Given the description of an element on the screen output the (x, y) to click on. 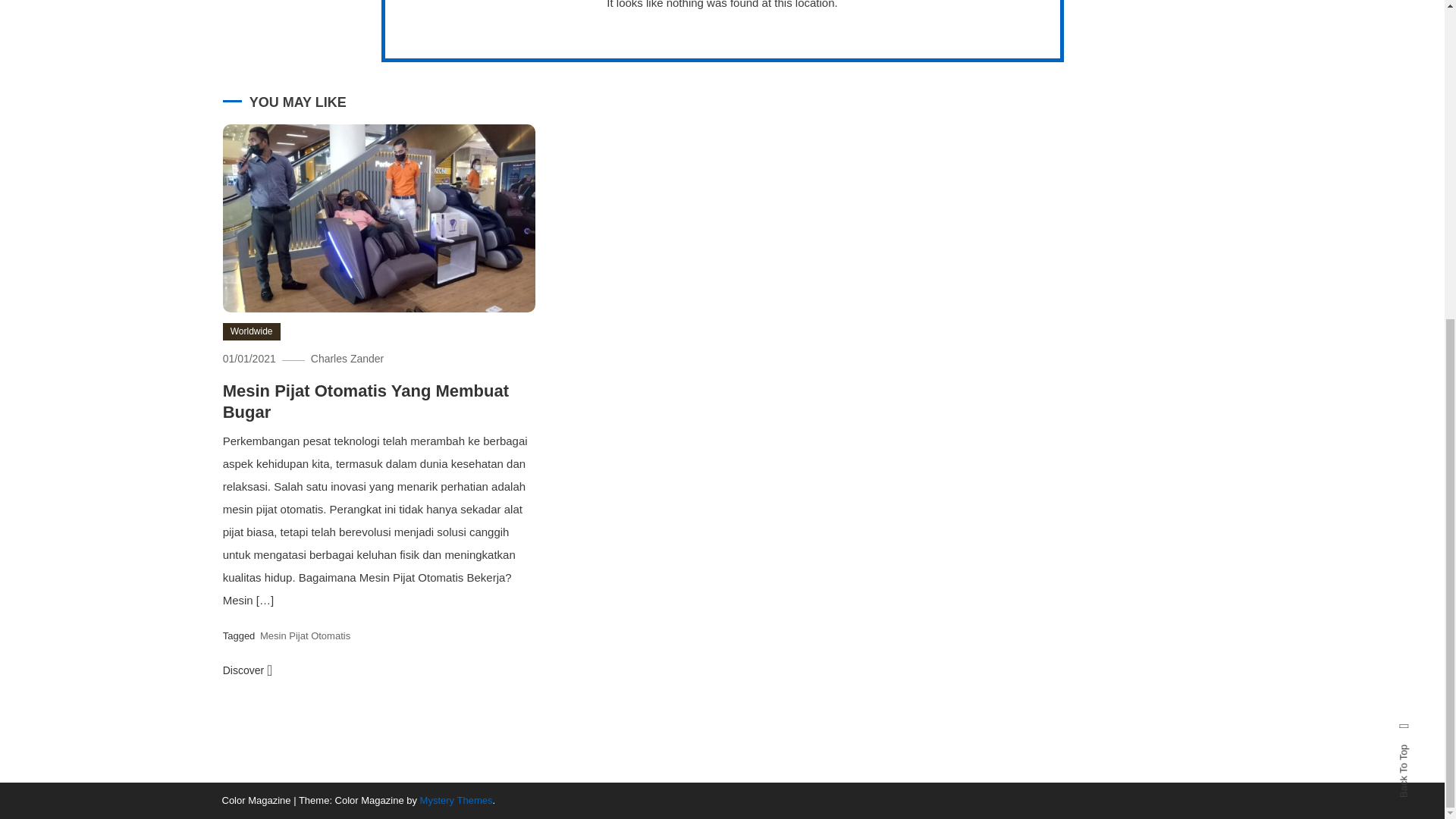
Mystery Themes (456, 799)
Worldwide (251, 331)
Charles Zander (347, 358)
Discover (247, 670)
Mesin Pijat Otomatis Yang Membuat Bugar (365, 401)
Mesin Pijat Otomatis (305, 635)
